Given the description of an element on the screen output the (x, y) to click on. 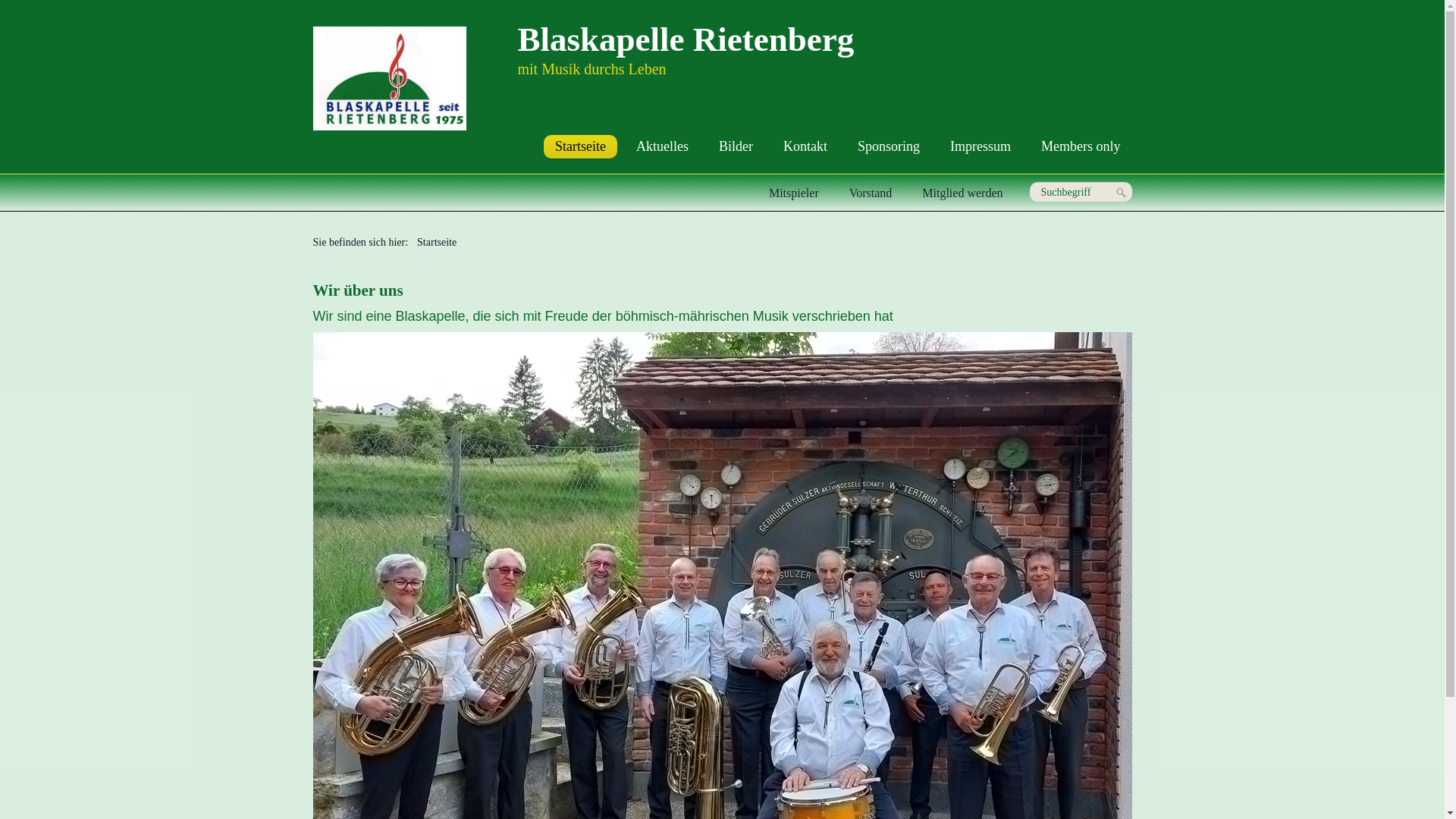
Startseite Element type: text (580, 146)
Startseite Element type: text (436, 241)
Aktuelles Element type: text (661, 146)
Mitspieler Element type: text (793, 192)
Kontakt Element type: text (804, 146)
Members only Element type: text (1080, 146)
Impressum Element type: text (980, 146)
Mitglied werden Element type: text (961, 192)
Bilder Element type: text (735, 146)
Vorstand Element type: text (870, 192)
Blaskapelle Rietenberg Element type: text (685, 39)
Sponsoring Element type: text (888, 146)
